Given the description of an element on the screen output the (x, y) to click on. 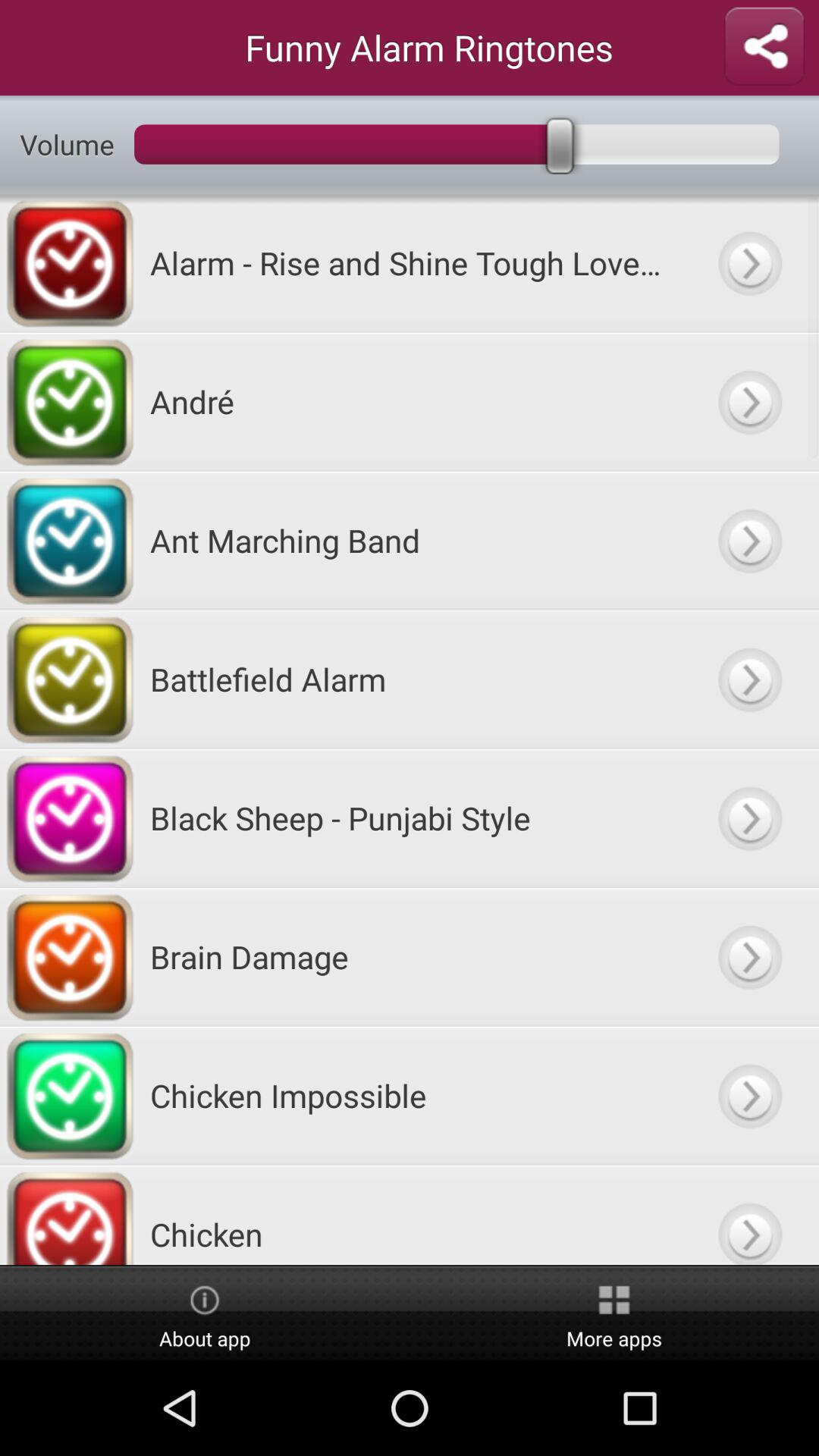
next arrow icon (749, 818)
